Given the description of an element on the screen output the (x, y) to click on. 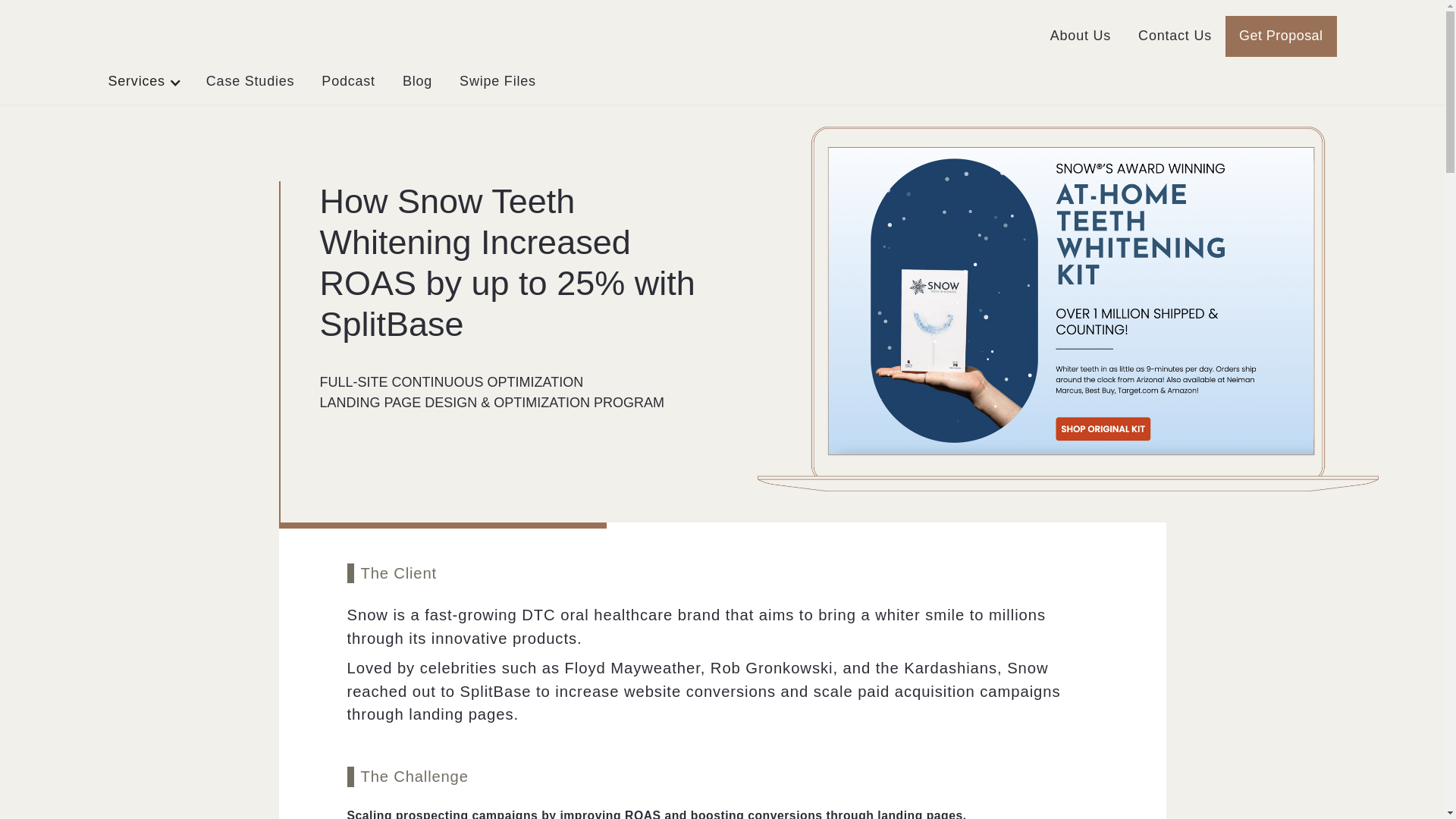
Get Proposal (1280, 35)
Podcast (347, 81)
About Us (1080, 35)
Contact Us (1174, 35)
Case Studies (250, 81)
Swipe Files (497, 81)
Blog (416, 81)
